Given the description of an element on the screen output the (x, y) to click on. 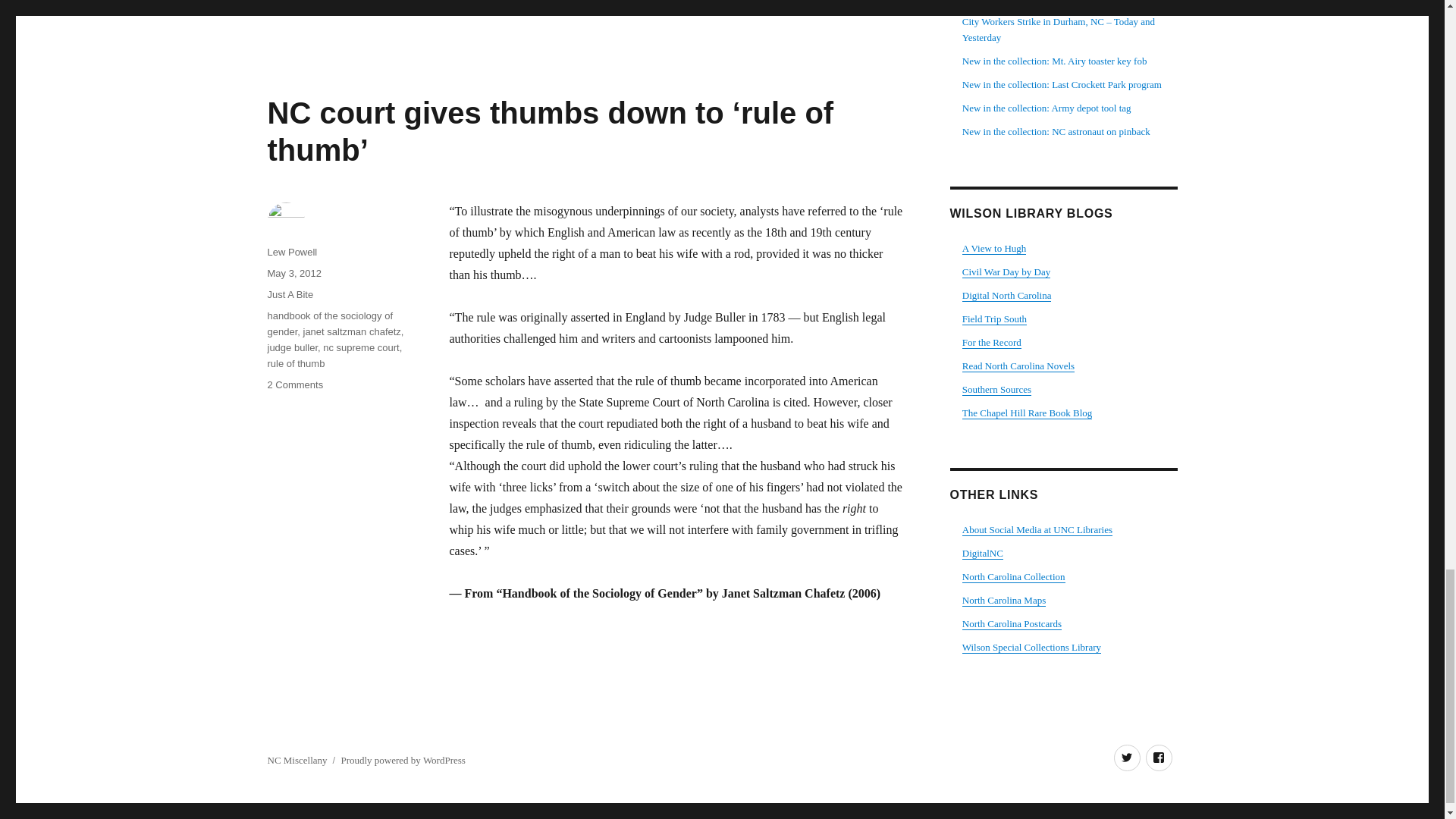
Highlights from the North Carolina Digital Heritage Center (1006, 295)
janet saltzman chafetz (351, 331)
Just A Bite (289, 294)
nc supreme court (360, 347)
judge buller (291, 347)
Lew Powell (291, 251)
rule of thumb (295, 363)
A guide to recent fiction set in North Carolina (1018, 365)
 Exploring the Southern Folklife Collection (994, 318)
 Processing the Hugh Morton Photographs and Films (994, 247)
handbook of the sociology of gender (329, 323)
May 3, 2012 (293, 273)
